Given the description of an element on the screen output the (x, y) to click on. 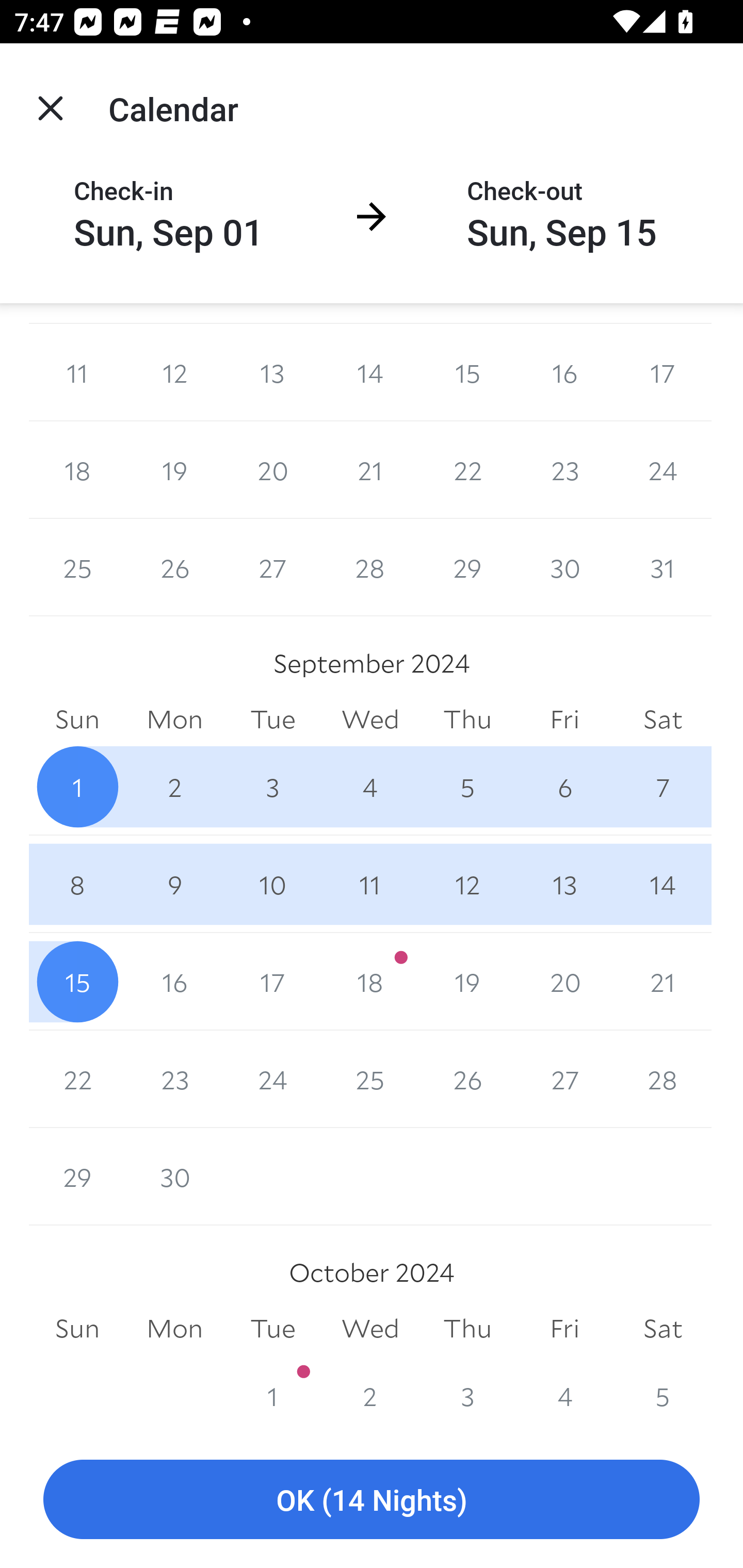
11 11 August 2024 (77, 372)
12 12 August 2024 (174, 372)
13 13 August 2024 (272, 372)
14 14 August 2024 (370, 372)
15 15 August 2024 (467, 372)
16 16 August 2024 (564, 372)
17 17 August 2024 (662, 372)
18 18 August 2024 (77, 470)
19 19 August 2024 (174, 470)
20 20 August 2024 (272, 470)
21 21 August 2024 (370, 470)
22 22 August 2024 (467, 470)
23 23 August 2024 (564, 470)
24 24 August 2024 (662, 470)
25 25 August 2024 (77, 567)
26 26 August 2024 (174, 567)
27 27 August 2024 (272, 567)
28 28 August 2024 (370, 567)
29 29 August 2024 (467, 567)
30 30 August 2024 (564, 567)
31 31 August 2024 (662, 567)
Sun (77, 719)
Mon (174, 719)
Tue (272, 719)
Wed (370, 719)
Thu (467, 719)
Fri (564, 719)
Sat (662, 719)
1 1 September 2024 (77, 786)
2 2 September 2024 (174, 786)
3 3 September 2024 (272, 786)
4 4 September 2024 (370, 786)
5 5 September 2024 (467, 786)
6 6 September 2024 (564, 786)
7 7 September 2024 (662, 786)
8 8 September 2024 (77, 883)
9 9 September 2024 (174, 883)
10 10 September 2024 (272, 883)
11 11 September 2024 (370, 883)
12 12 September 2024 (467, 883)
13 13 September 2024 (564, 883)
14 14 September 2024 (662, 883)
15 15 September 2024 (77, 981)
16 16 September 2024 (174, 981)
17 17 September 2024 (272, 981)
18 18 September 2024 (370, 981)
19 19 September 2024 (467, 981)
20 20 September 2024 (564, 981)
21 21 September 2024 (662, 981)
